Given the description of an element on the screen output the (x, y) to click on. 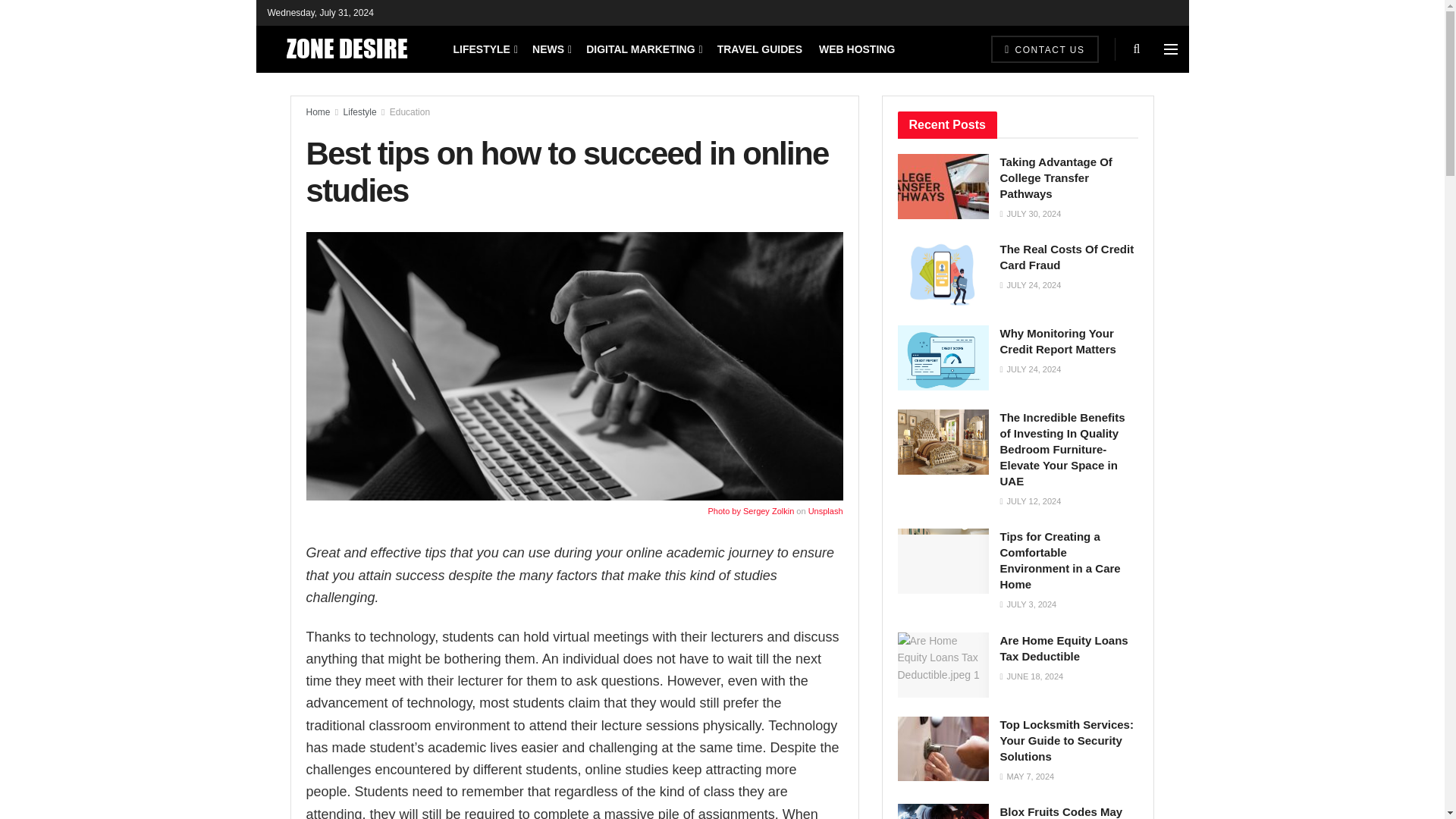
CONTACT US (1044, 49)
Home (317, 112)
Lifestyle (360, 112)
LIFESTYLE (484, 48)
WEB HOSTING (856, 48)
Education (409, 112)
TRAVEL GUIDES (759, 48)
Sergey Zolkin (767, 510)
Photo by (724, 510)
DIGITAL MARKETING (643, 48)
Unsplash (825, 510)
